Given the description of an element on the screen output the (x, y) to click on. 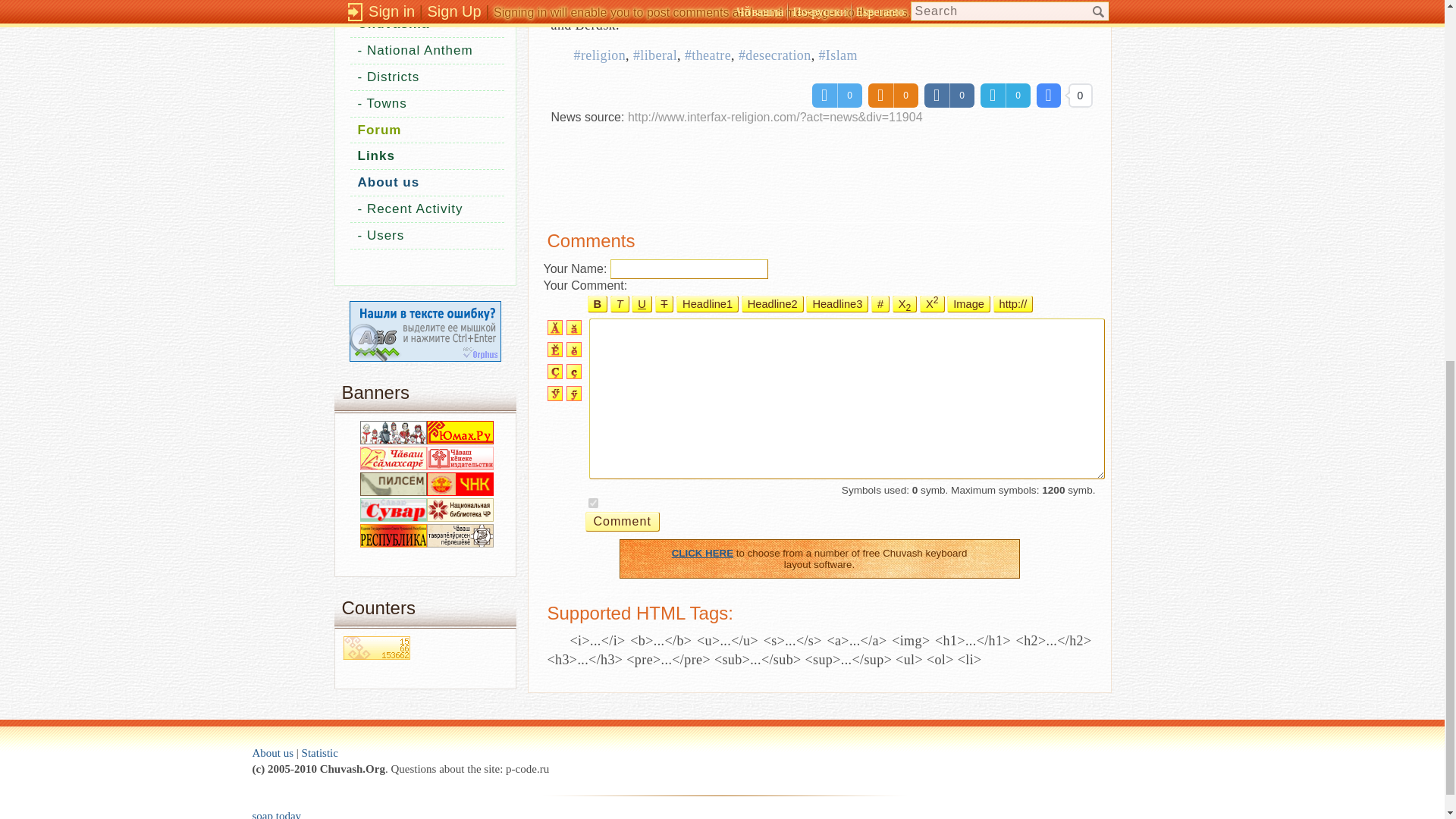
Text Formatting (879, 303)
Image (968, 303)
Big headline (772, 303)
Strikethru (664, 303)
Headline3 (836, 303)
Headline2 (772, 303)
CLICK HERE (702, 552)
Comment (622, 521)
Italics (619, 303)
Headline1 (707, 303)
U (641, 303)
1 (593, 502)
B (596, 303)
T (619, 303)
